Given the description of an element on the screen output the (x, y) to click on. 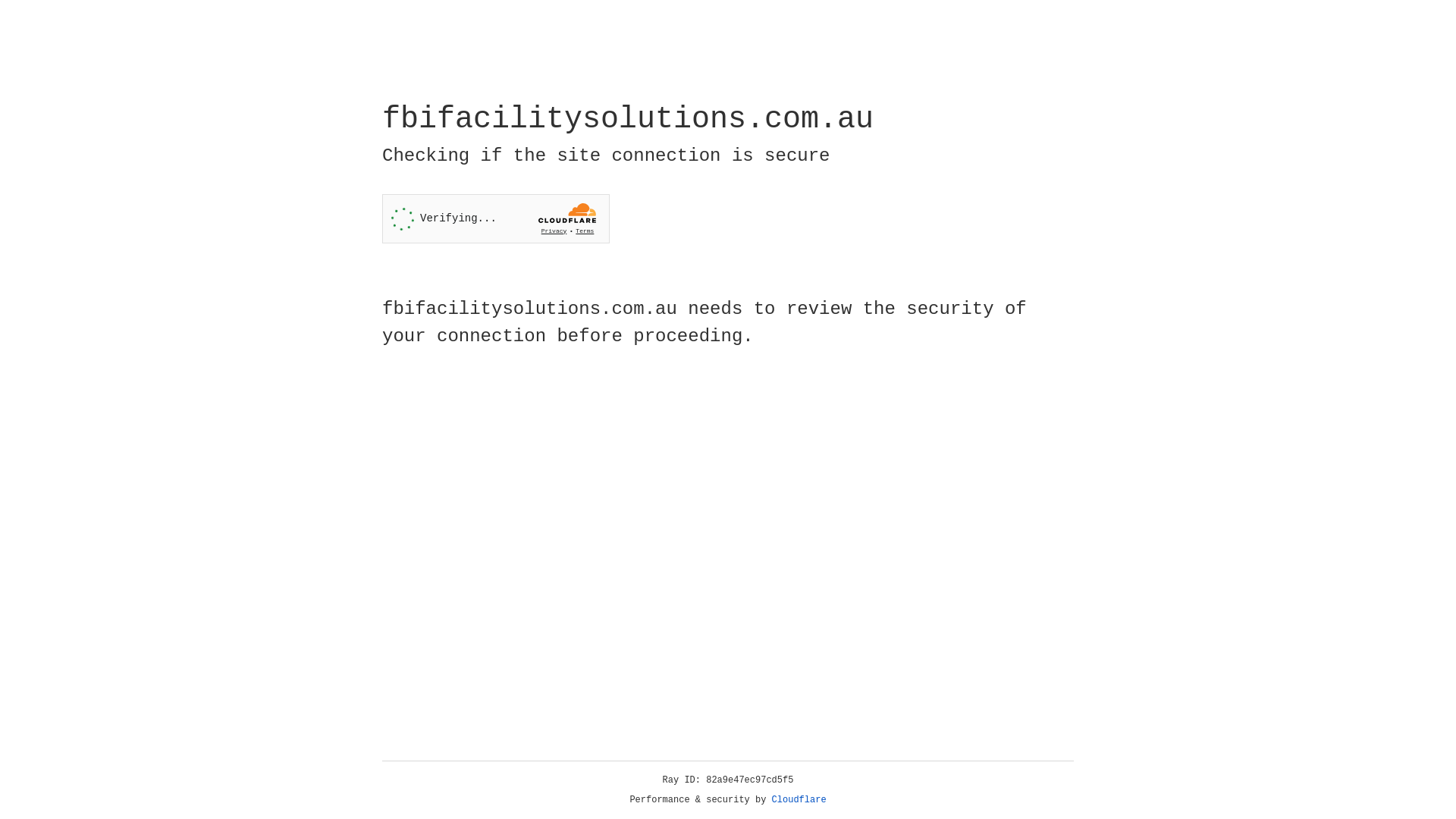
Widget containing a Cloudflare security challenge Element type: hover (495, 218)
Cloudflare Element type: text (798, 799)
